Given the description of an element on the screen output the (x, y) to click on. 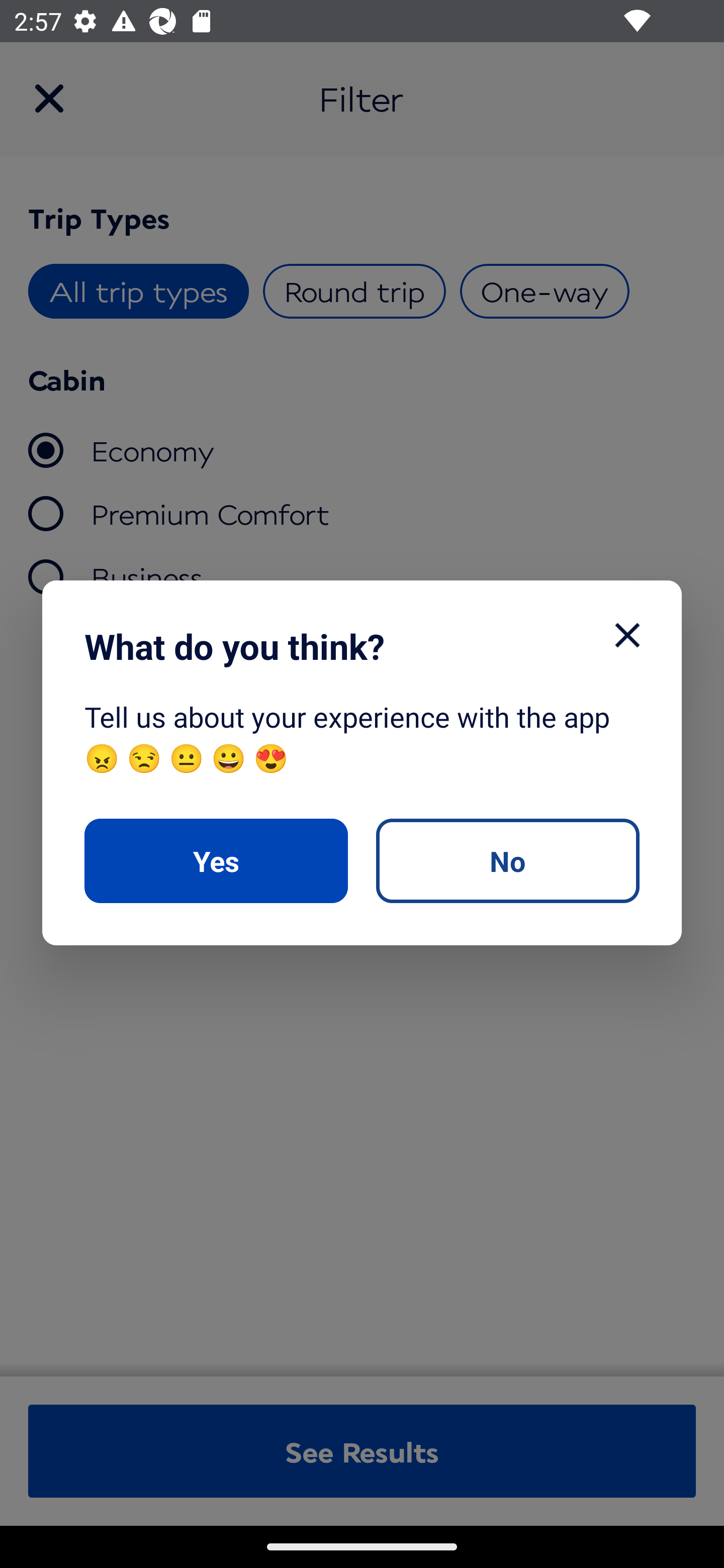
Cancel (626, 634)
Yes (216, 860)
No (507, 860)
